Given the description of an element on the screen output the (x, y) to click on. 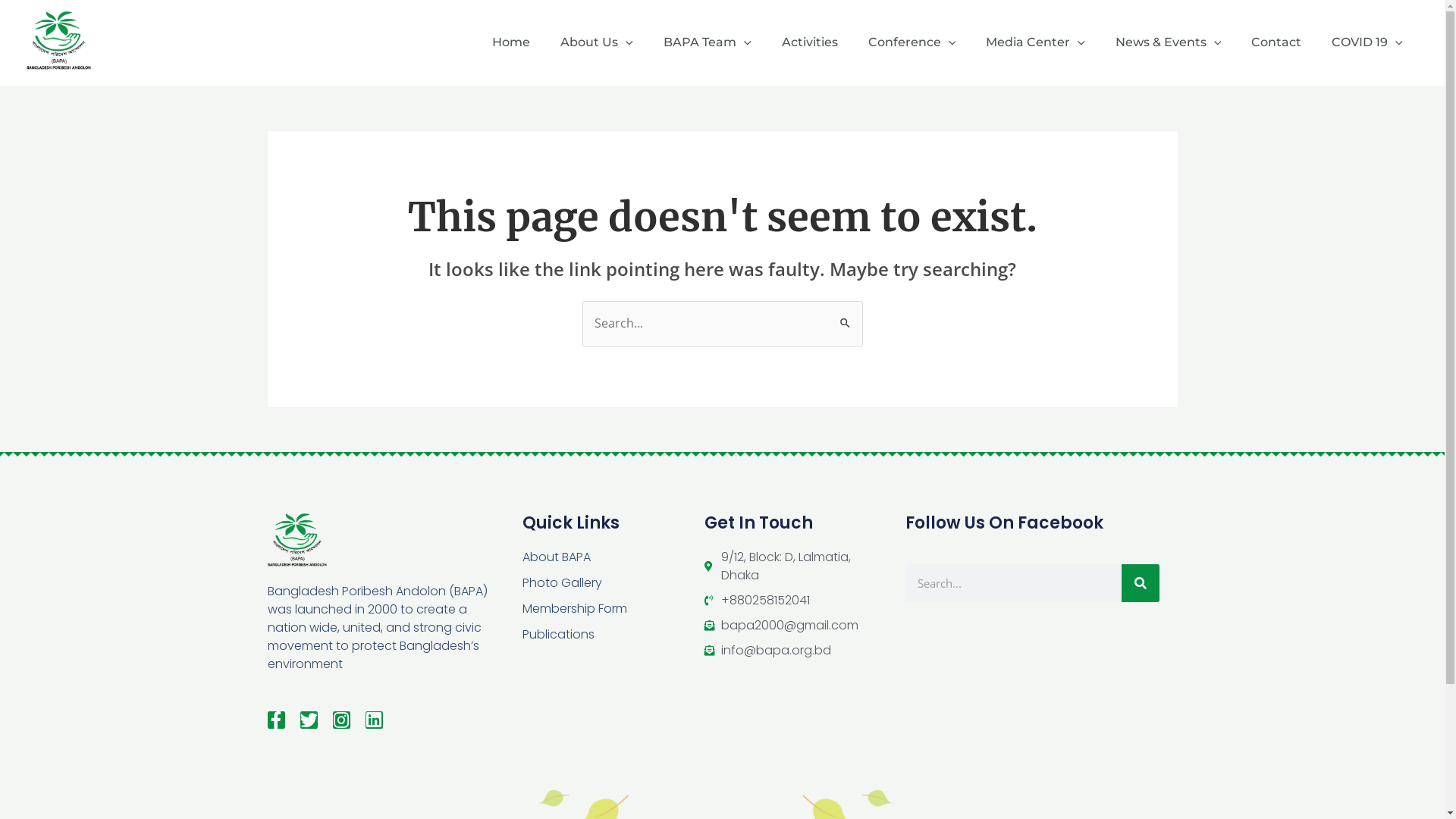
Instagram Element type: text (340, 719)
Photo Gallery Element type: text (612, 583)
News & Events Element type: text (1168, 42)
Twitter Element type: text (308, 719)
bapa2000@gmail.com Element type: text (794, 625)
+880258152041 Element type: text (794, 600)
About BAPA Element type: text (612, 557)
Facebook-f Element type: text (275, 719)
9/12, Block: D, Lalmatia, Dhaka Element type: text (794, 566)
SEARCH Element type: text (1139, 583)
Membership Form Element type: text (612, 608)
Contact Element type: text (1276, 42)
Home Element type: text (510, 42)
info@bapa.org.bd Element type: text (794, 650)
COVID 19 Element type: text (1367, 42)
About Us Element type: text (596, 42)
Conference Element type: text (912, 42)
Publications Element type: text (612, 634)
Search Element type: text (845, 316)
Activities Element type: text (809, 42)
BAPA Team Element type: text (707, 42)
Linkedin Element type: text (373, 719)
Media Center Element type: text (1035, 42)
